Given the description of an element on the screen output the (x, y) to click on. 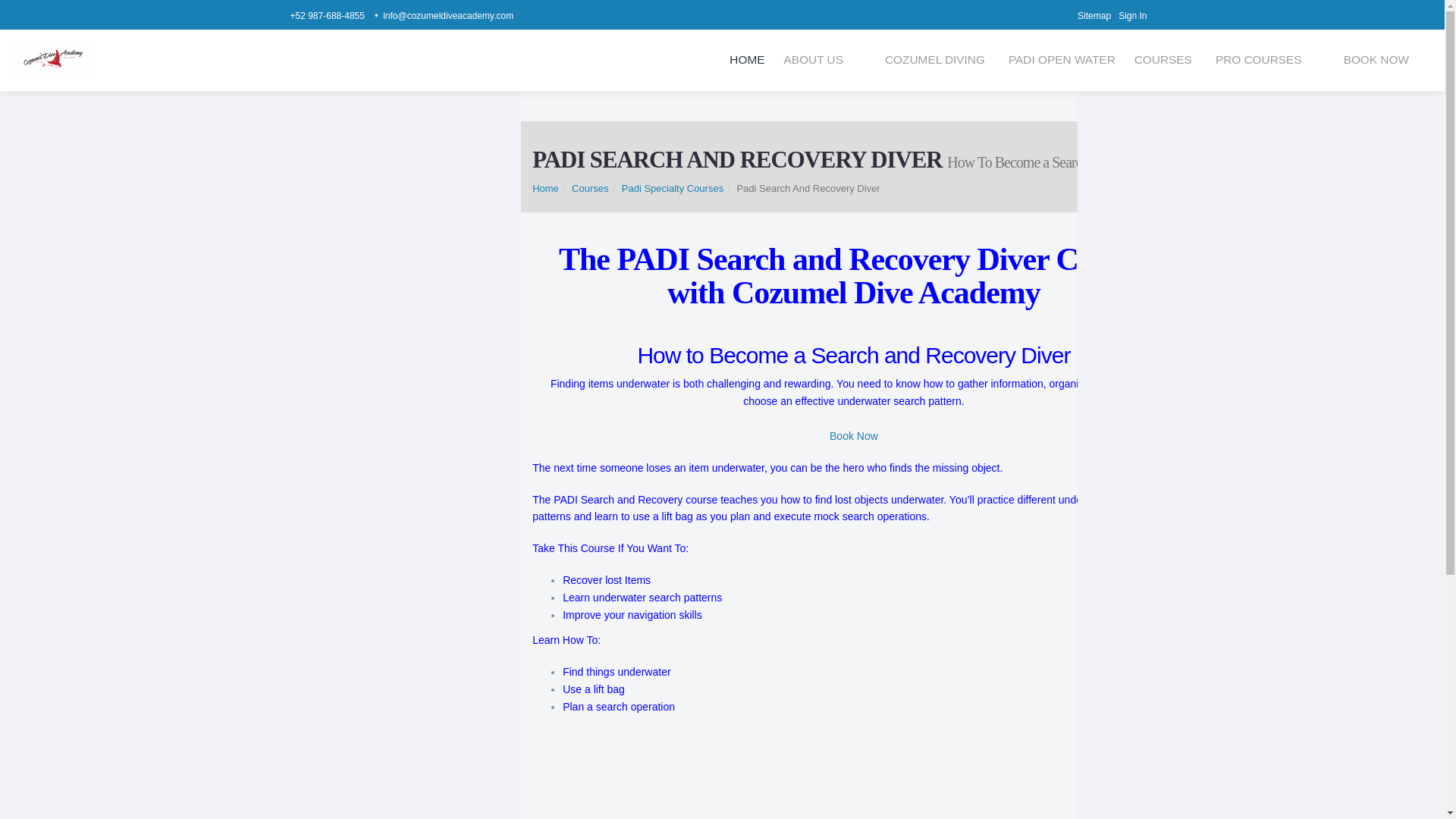
COZUMEL DIVING (937, 60)
PADI OPEN WATER (1061, 60)
Sitemap (1097, 15)
HOME (746, 60)
COURSES (1165, 60)
Sign In (1136, 15)
ABOUT US (812, 60)
COZUMEL DIVE ACADEMY (52, 59)
